Given the description of an element on the screen output the (x, y) to click on. 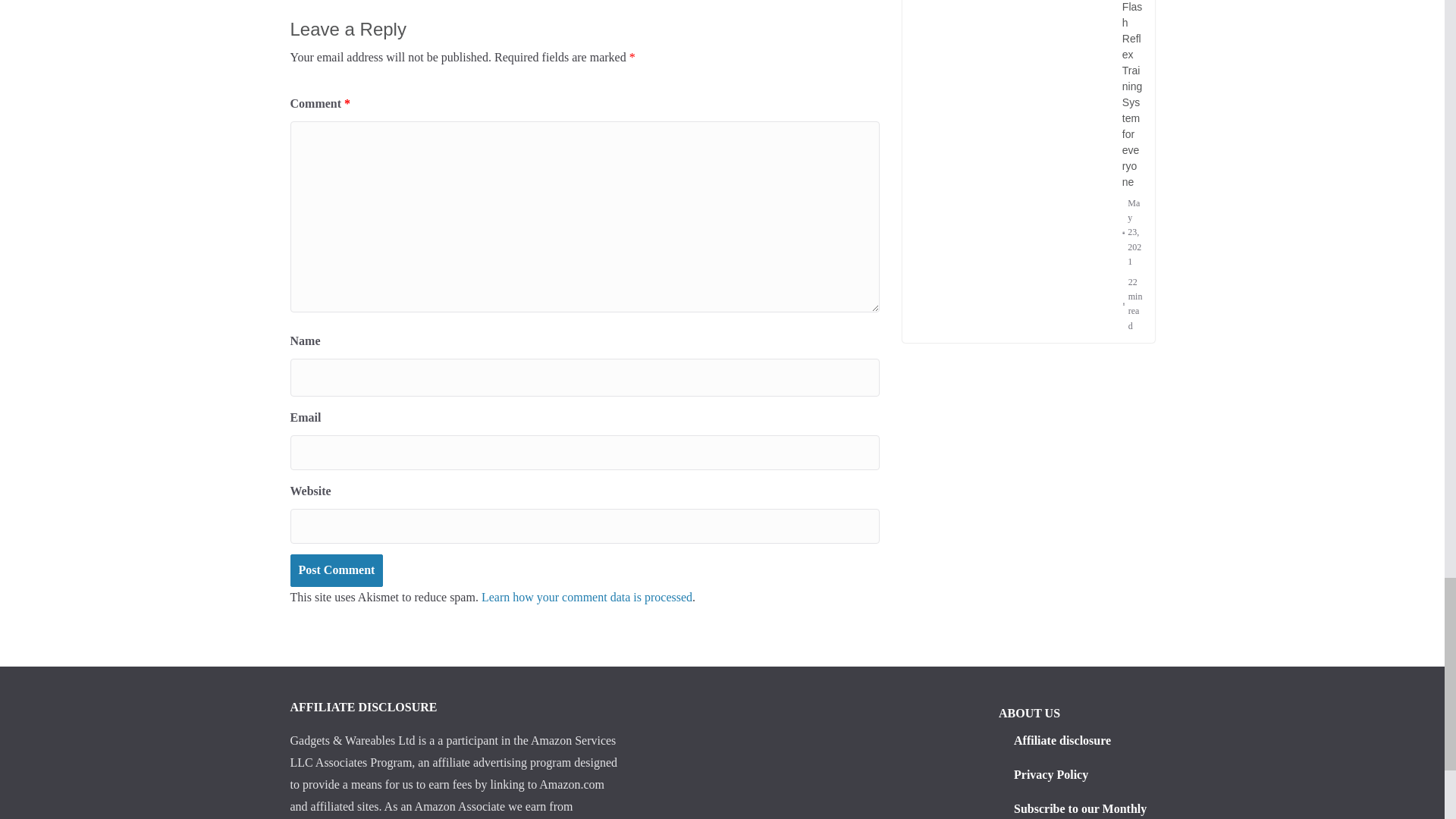
Post Comment (335, 570)
